Given the description of an element on the screen output the (x, y) to click on. 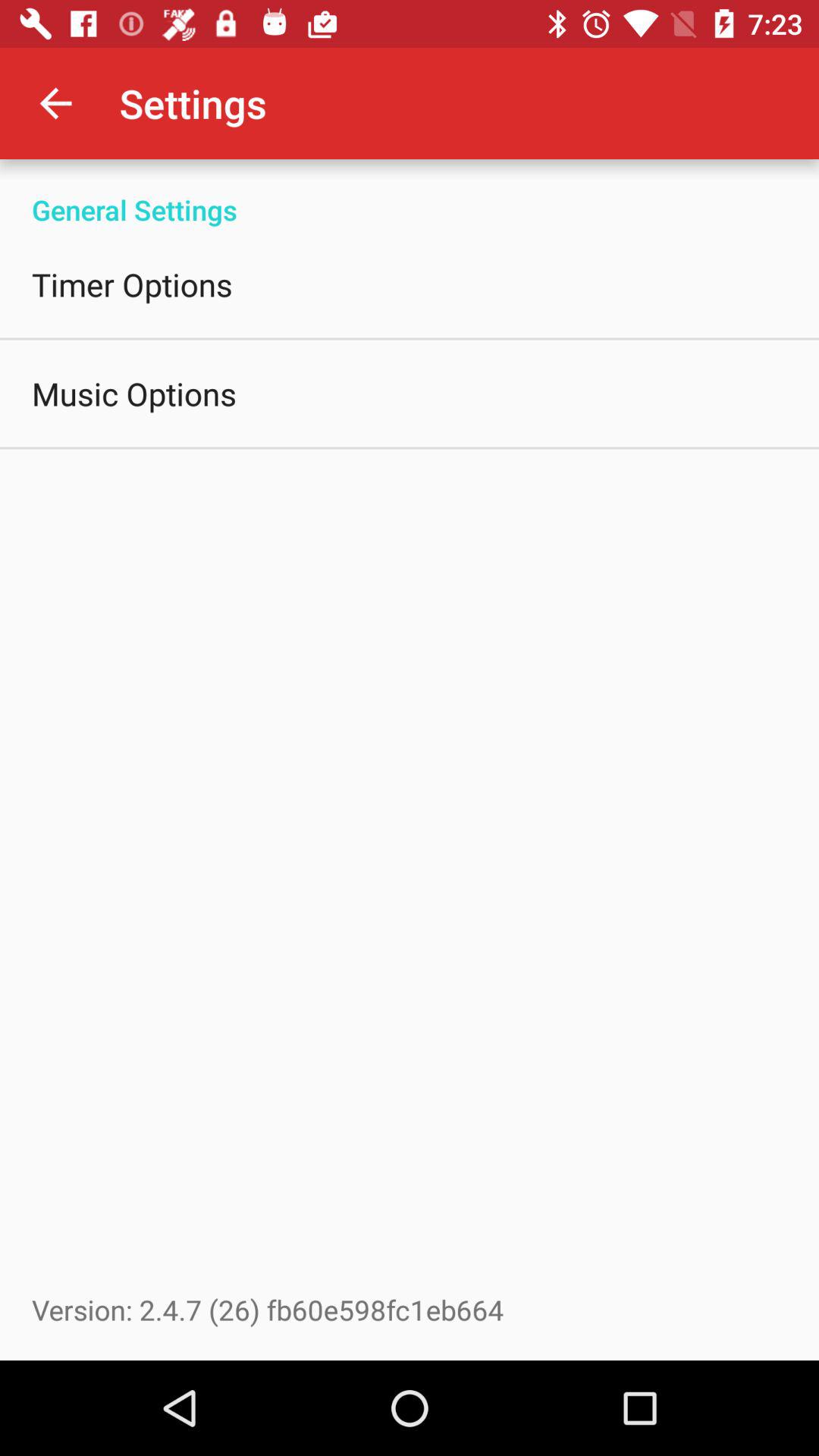
tap the app to the left of the settings icon (55, 103)
